Given the description of an element on the screen output the (x, y) to click on. 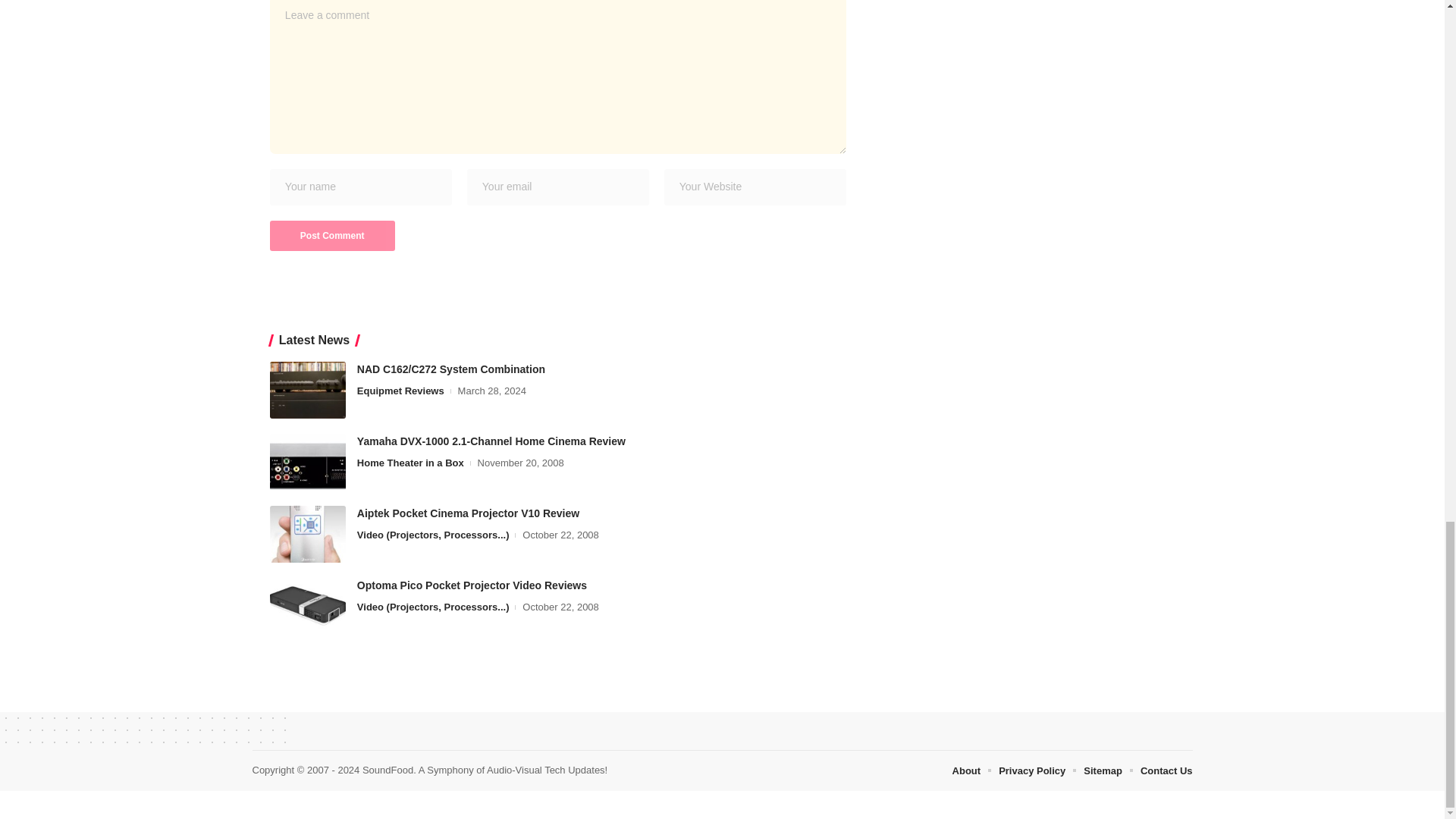
Aiptek Pocket Cinema Projector V10 Review (307, 534)
Post Comment (331, 235)
Optoma Pico Pocket Projector Video Reviews (307, 606)
Sitemap (1102, 770)
Yamaha DVX-1000 2.1-Channel Home Cinema Review (307, 462)
